Given the description of an element on the screen output the (x, y) to click on. 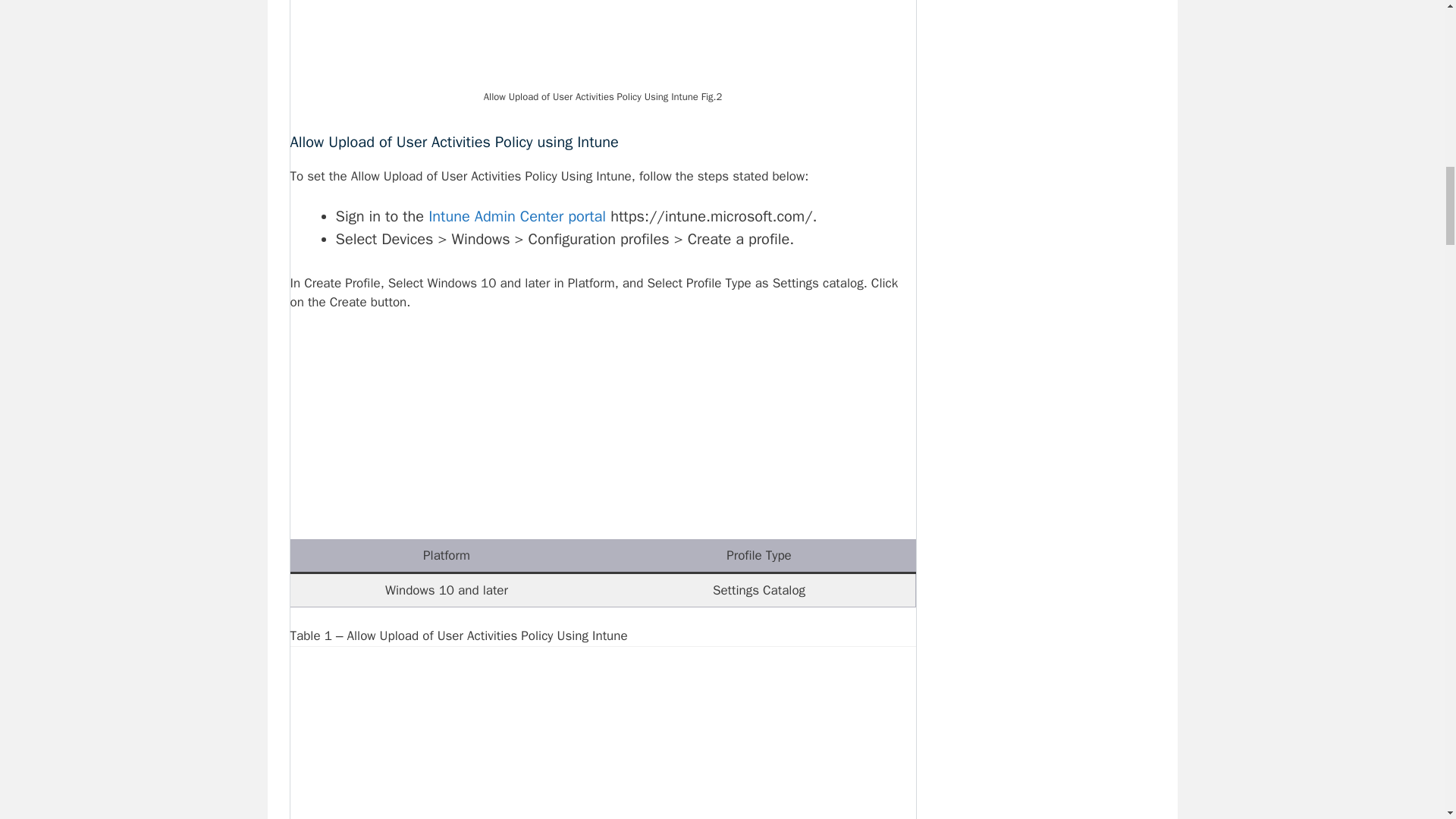
Intune Admin Center portal (516, 216)
Allow Upload of User Activities Policy using Intune 3 (602, 742)
Allow Upload of User Activities Policy using Intune 2 (602, 42)
